Given the description of an element on the screen output the (x, y) to click on. 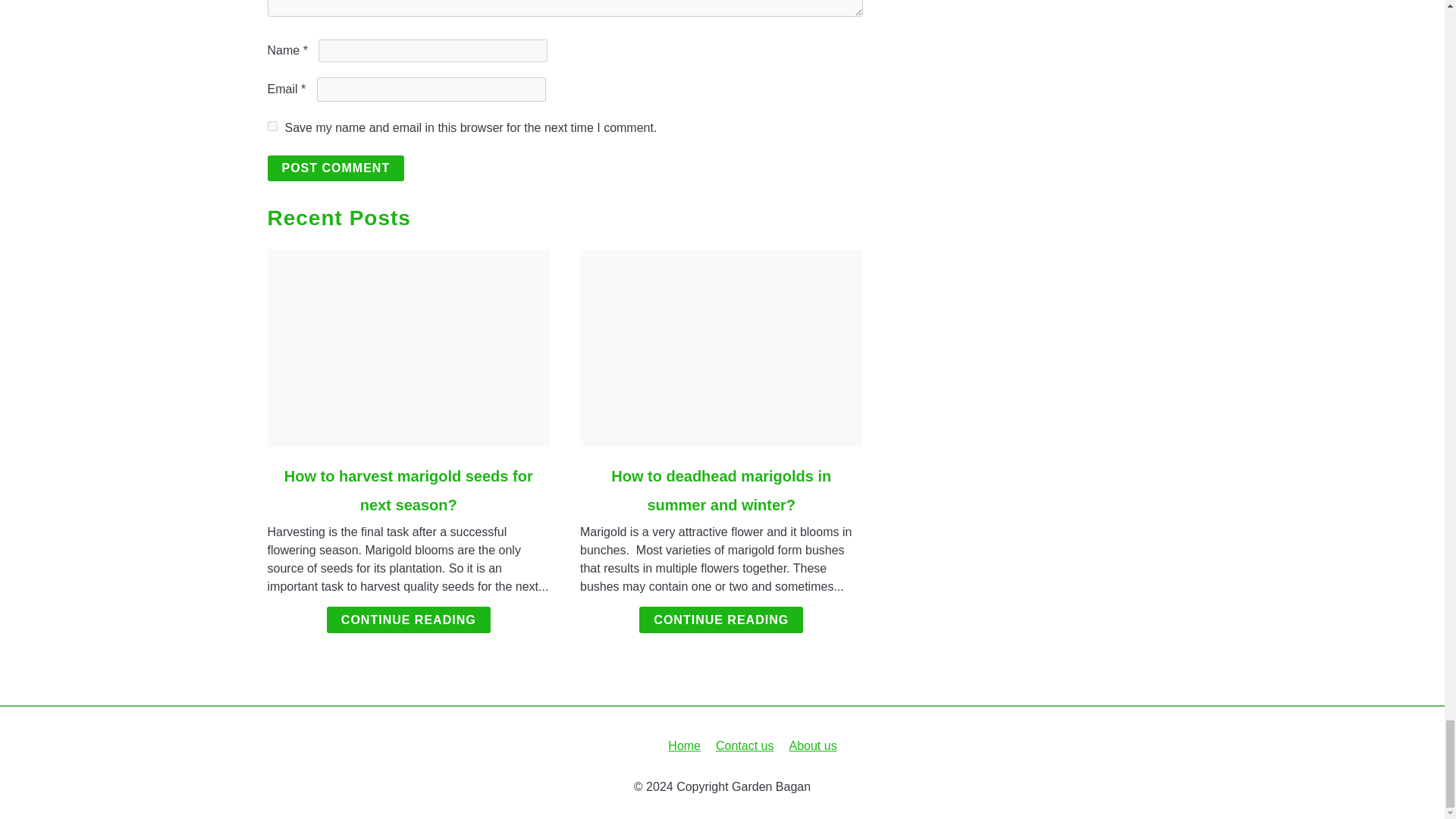
CONTINUE READING (721, 619)
How to harvest marigold seeds for next season? (407, 490)
How to deadhead marigolds in summer and winter? (721, 490)
Post Comment (335, 167)
Post Comment (335, 167)
link to How to deadhead marigolds in summer and winter? (721, 347)
yes (271, 126)
link to How to harvest marigold seeds for next season? (408, 347)
CONTINUE READING (408, 619)
